Given the description of an element on the screen output the (x, y) to click on. 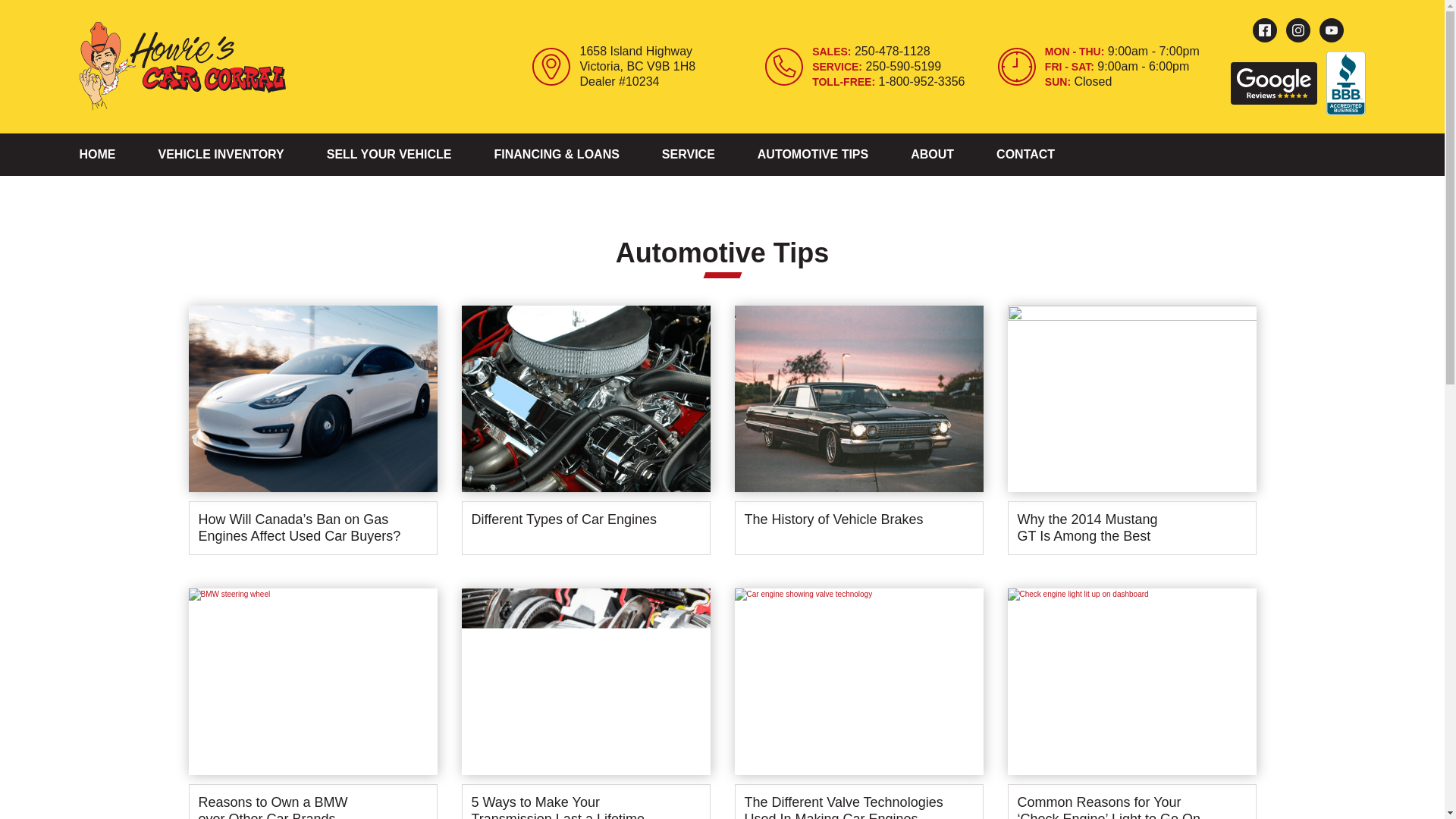
ABOUT (932, 154)
Why the 2014 Mustang GT Is Among the Best (1131, 434)
CONTACT (1024, 154)
The History of Vehicle Brakes (857, 434)
AUTOMOTIVE TIPS (812, 154)
SERVICE (688, 154)
5 Ways to Make Your Transmission Last a Lifetime (585, 703)
VEHICLE INVENTORY (220, 154)
1-800-952-3356 (922, 81)
Reasons to Own a BMW over Other Car Brands (311, 703)
